Given the description of an element on the screen output the (x, y) to click on. 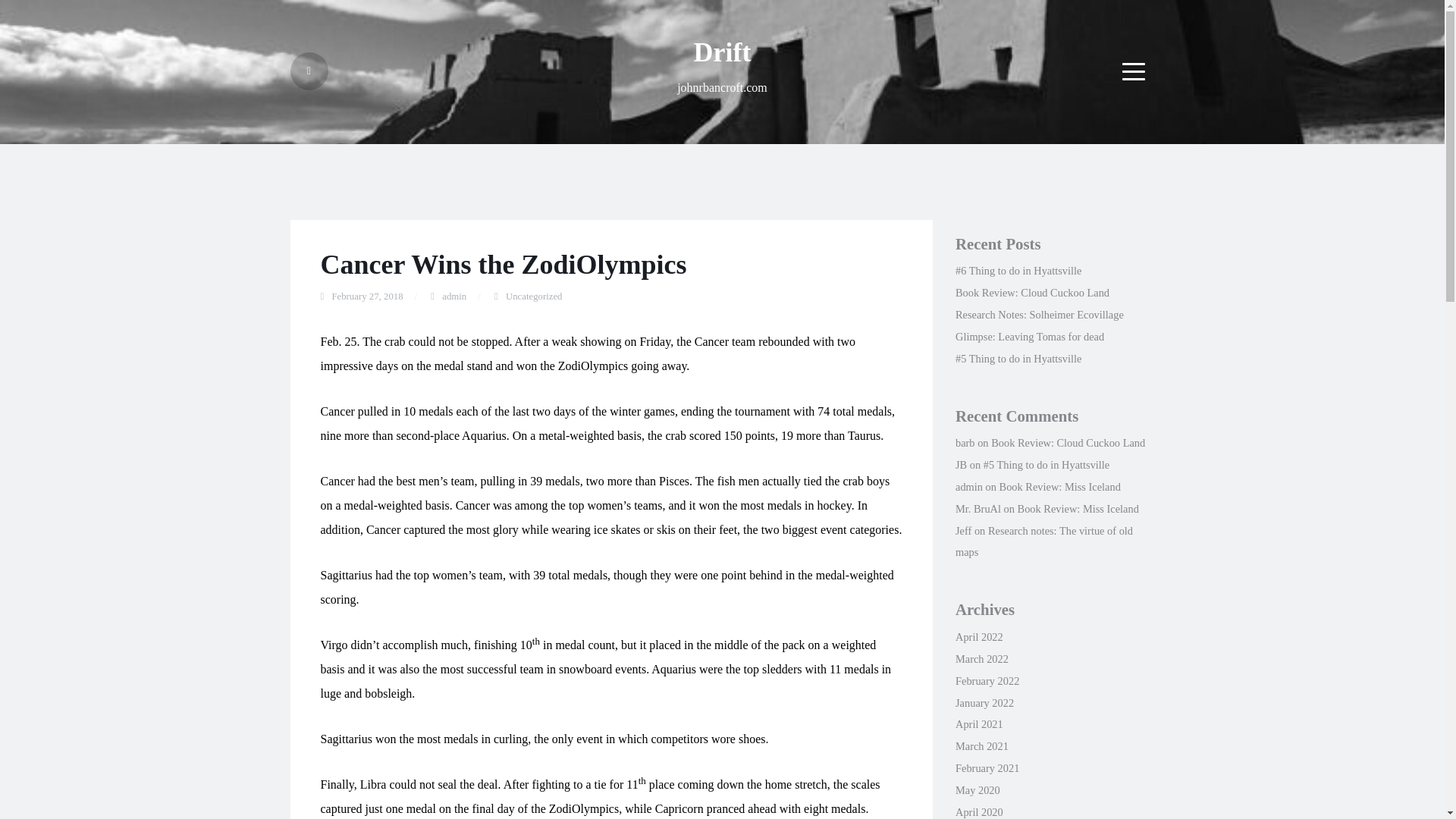
March 2021 (982, 746)
Book Review: Cloud Cuckoo Land (1032, 292)
Research notes: The virtue of old maps (1043, 541)
April 2022 (979, 636)
Book Review: Miss Iceland (1059, 486)
Research Notes: Solheimer Ecovillage (1039, 314)
Book Review: Miss Iceland (1077, 508)
Uncategorized (533, 296)
Menu (1133, 71)
February 2021 (987, 767)
April 2020 (979, 811)
March 2022 (982, 658)
Glimpse: Leaving Tomas for dead (1029, 336)
February 2022 (987, 680)
February 27, 2018 (367, 296)
